Given the description of an element on the screen output the (x, y) to click on. 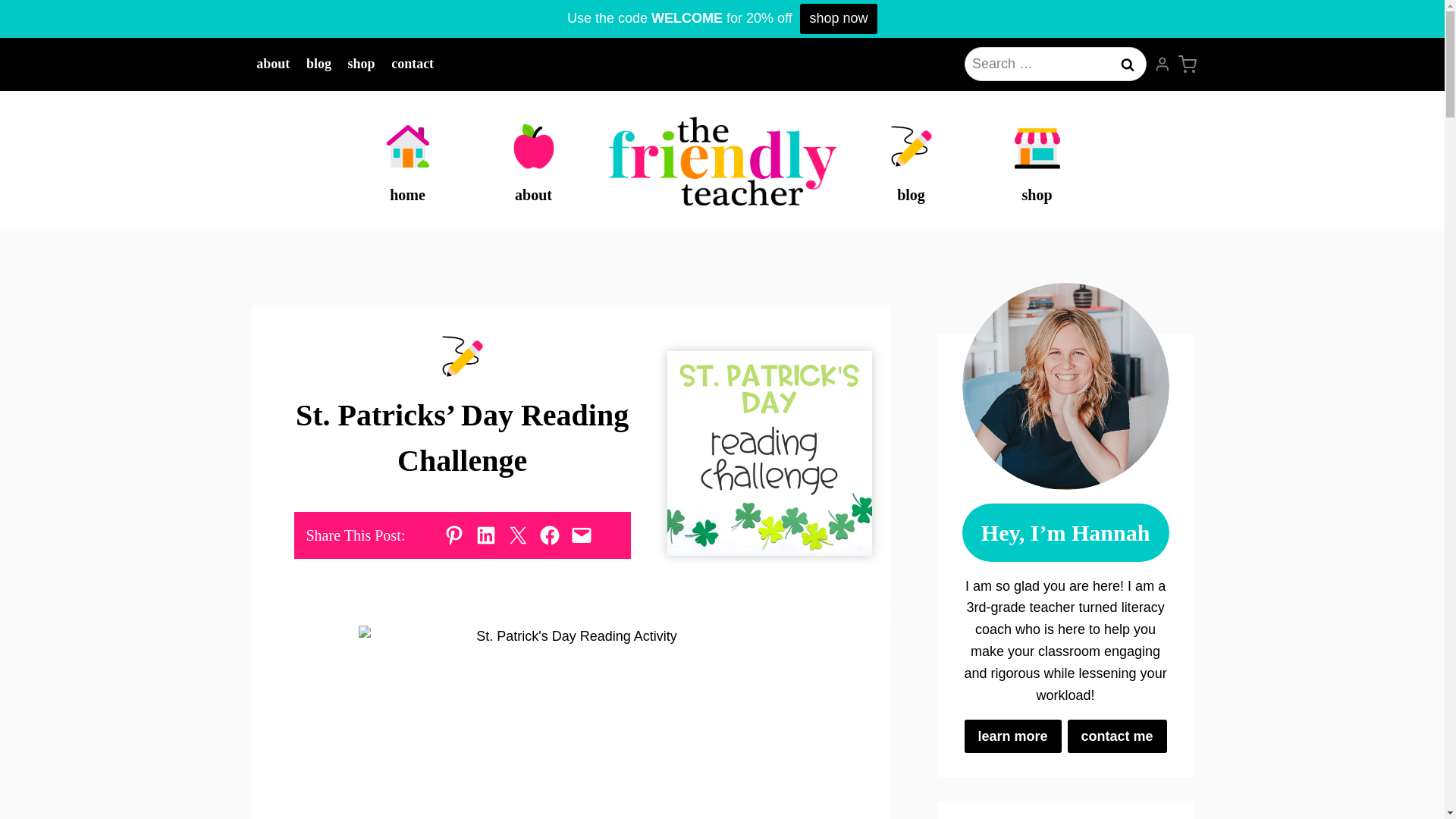
shop now (838, 19)
blog (910, 161)
Email this Page (581, 535)
Share on Facebook (549, 535)
contact (412, 64)
Search (1127, 63)
Share on LinkedIn (485, 535)
Share on X (517, 535)
about (532, 161)
Search (1127, 63)
Share on Pinterest (453, 535)
shop (1036, 161)
Search (1127, 63)
shop (361, 64)
blog (318, 64)
